Given the description of an element on the screen output the (x, y) to click on. 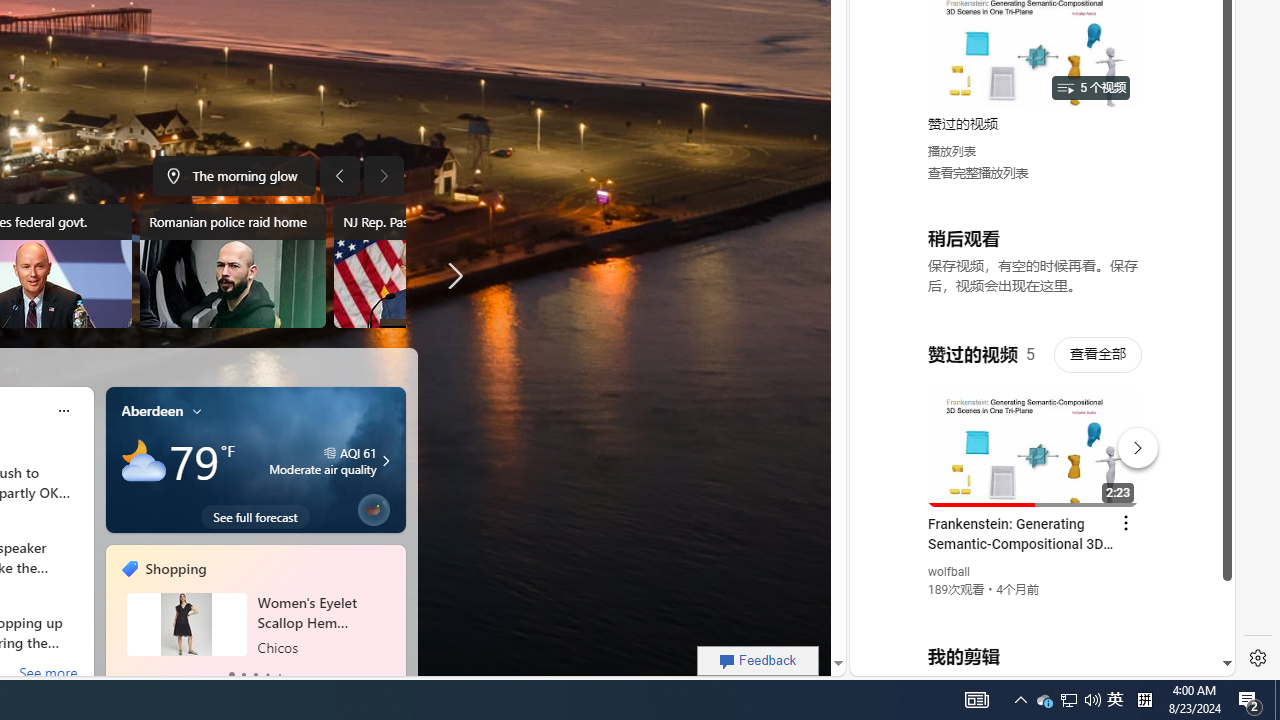
Mostly cloudy (143, 461)
previous (115, 617)
See full forecast (255, 516)
next (395, 617)
Moderate air quality (383, 460)
you (1034, 609)
aqi-icon AQI 61 Moderate air quality (322, 460)
Grow a virtual seed into a real tree (373, 506)
tab-2 (255, 674)
wolfball (949, 572)
